Given the description of an element on the screen output the (x, y) to click on. 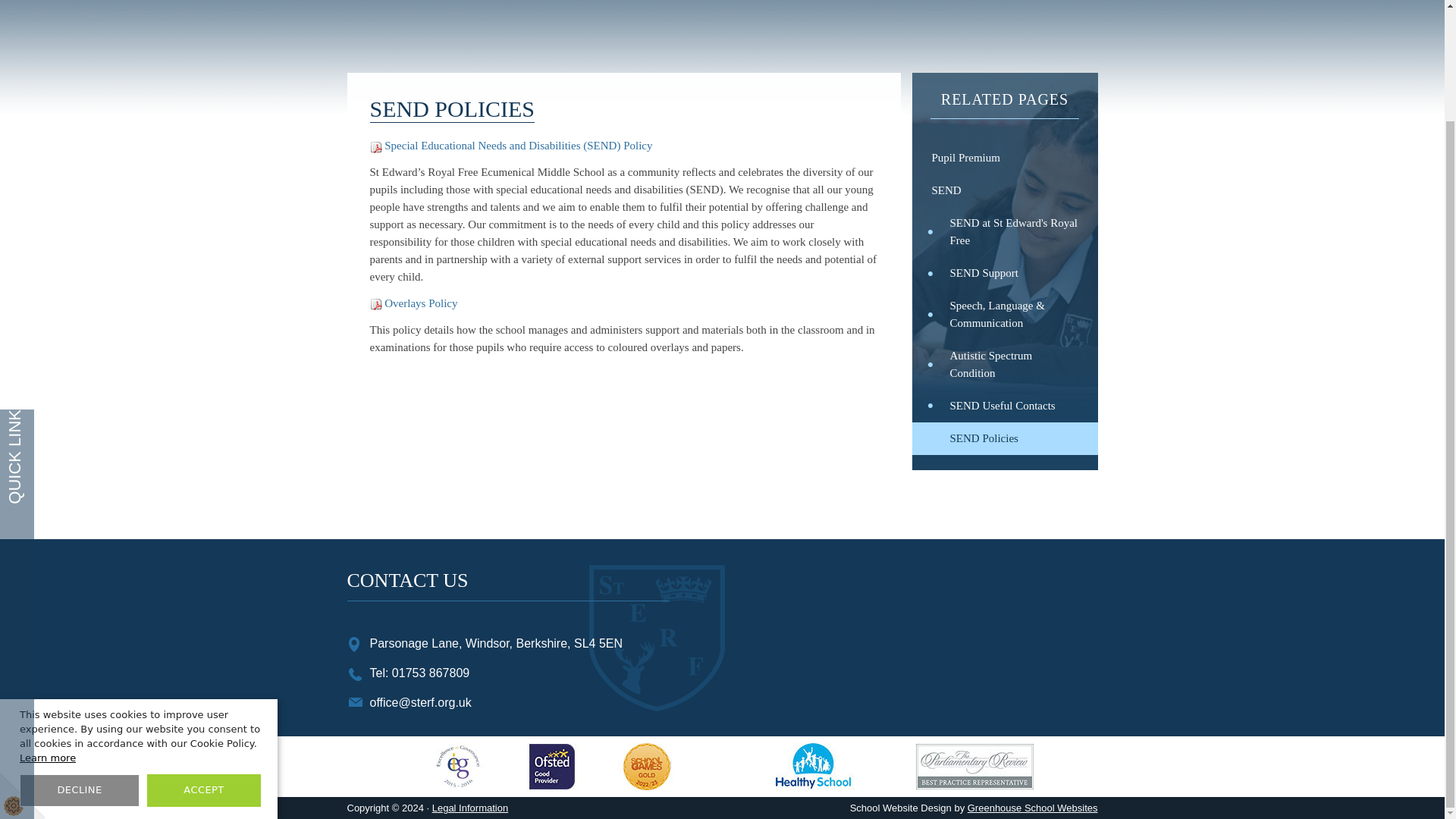
ADMISSIONS (531, 2)
HOME (368, 2)
OUR SCHOOL (438, 2)
